Given the description of an element on the screen output the (x, y) to click on. 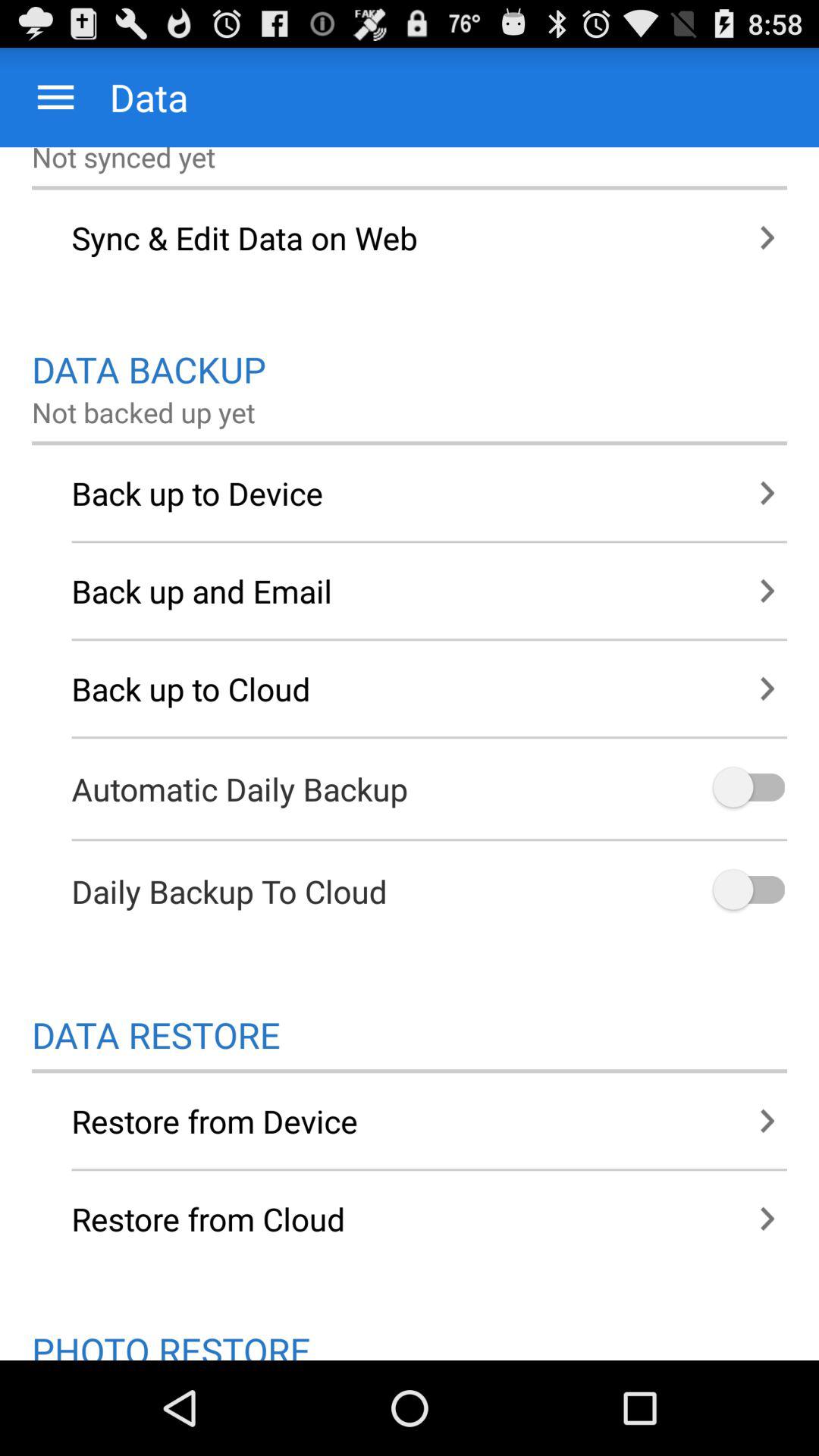
turn on the app above the not synced yet (55, 97)
